Given the description of an element on the screen output the (x, y) to click on. 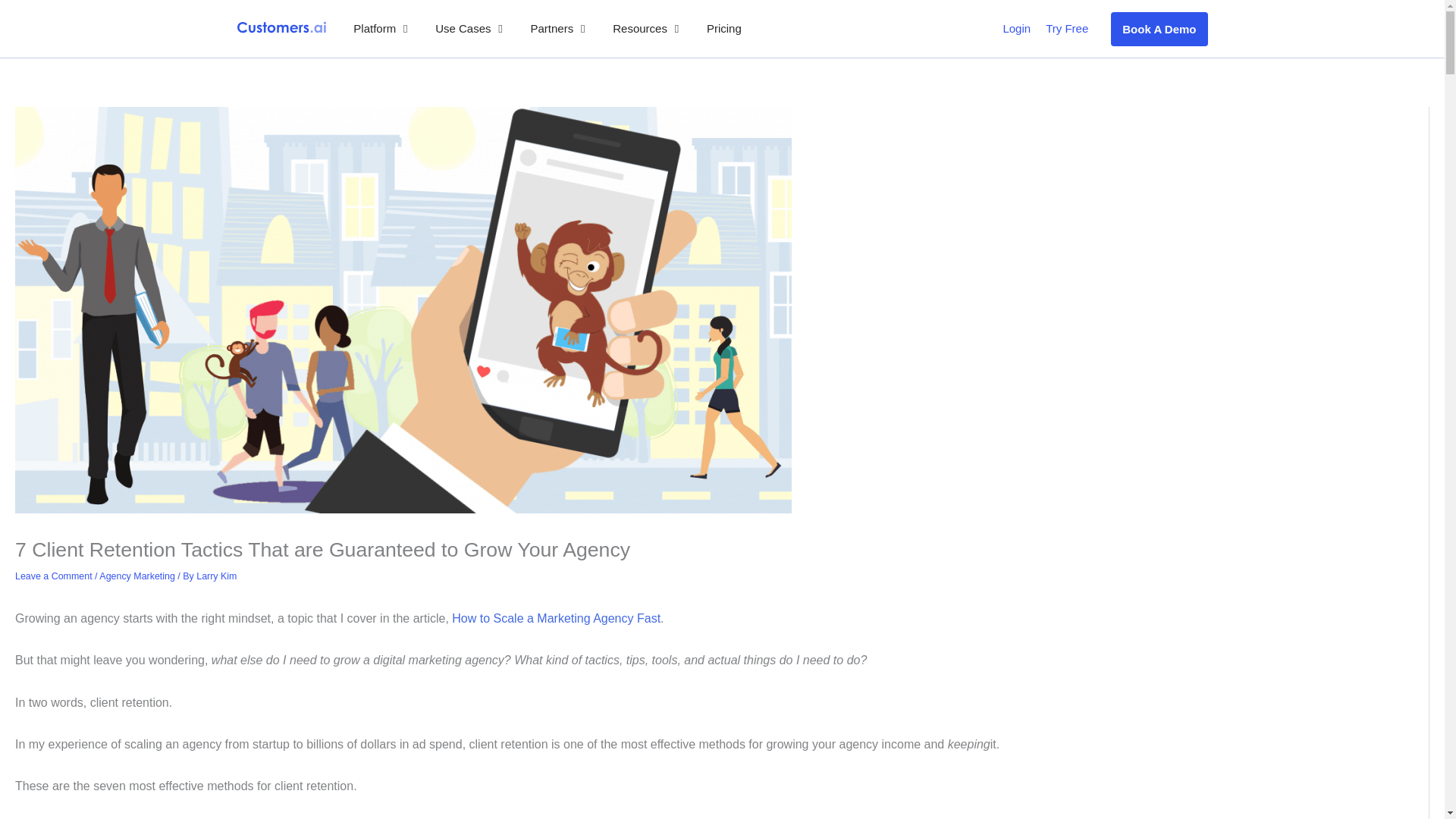
View all posts by Larry Kim (215, 575)
